Given the description of an element on the screen output the (x, y) to click on. 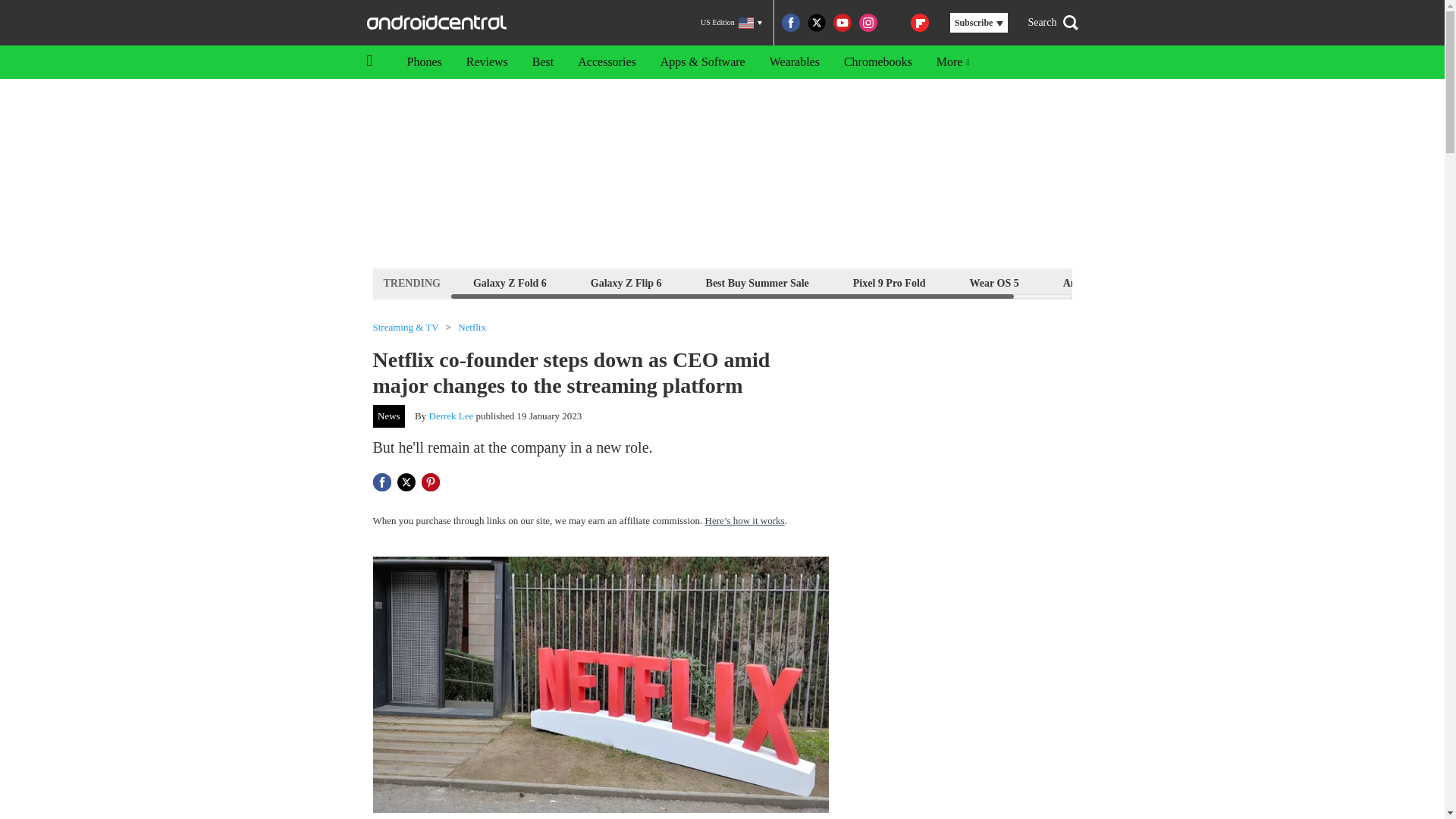
Galaxy Z Flip 6 (625, 282)
Netflix (472, 327)
Best Buy Summer Sale (756, 282)
Phones (423, 61)
Derrek Lee (451, 415)
Pixel 9 Pro Fold (889, 282)
Wearables (794, 61)
US Edition (731, 22)
Best (542, 61)
Accessories (606, 61)
Chromebooks (877, 61)
Wear OS 5 (994, 282)
Android 15 (1088, 282)
Galaxy Z Fold 6 (509, 282)
Reviews (486, 61)
